Given the description of an element on the screen output the (x, y) to click on. 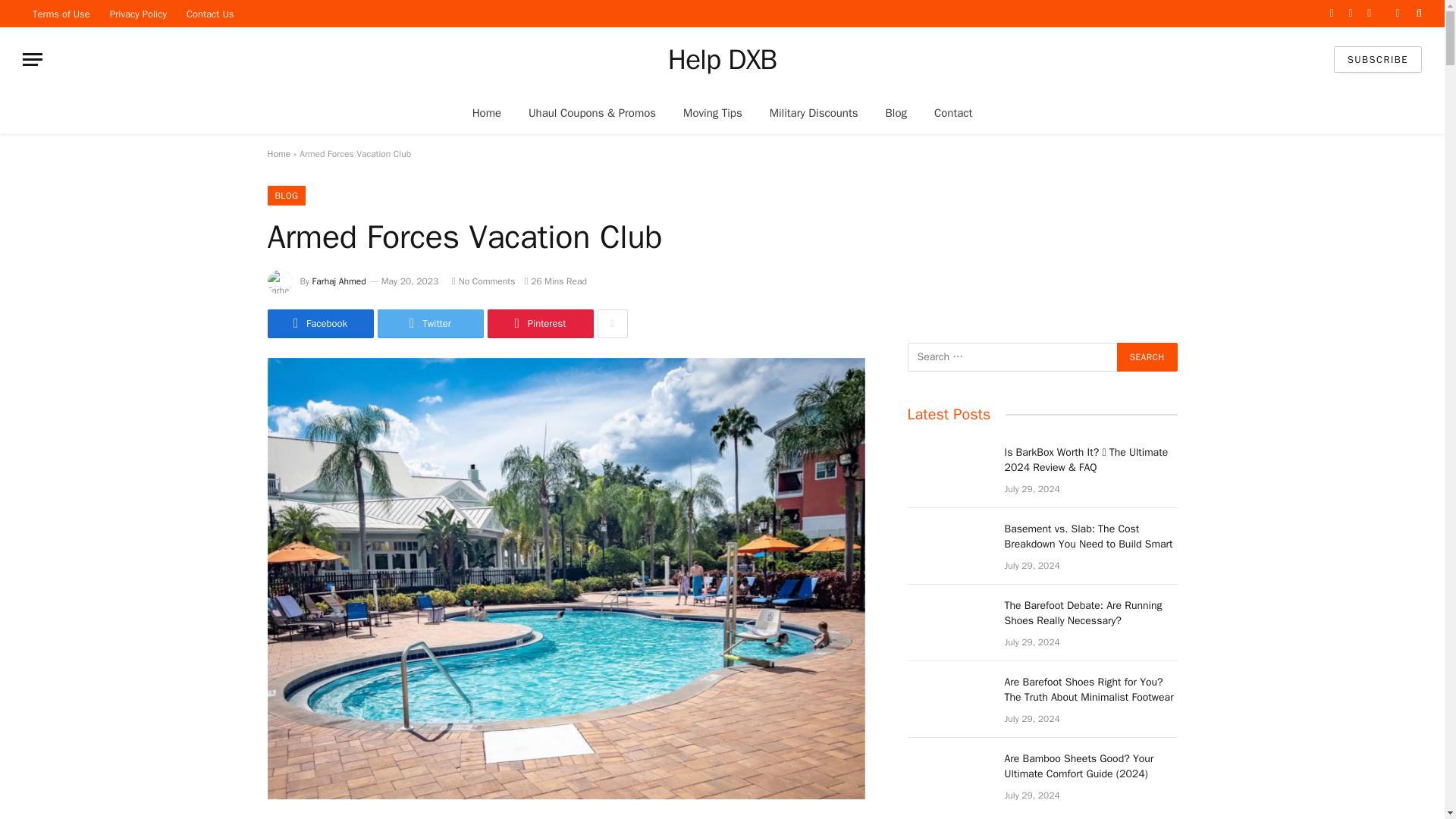
Share on Pinterest (539, 323)
Switch to Dark Design - easier on eyes. (1397, 13)
Help DXB (722, 59)
BLOG (285, 195)
Pinterest (539, 323)
Moving Tips (712, 112)
Search (1146, 357)
Home (277, 153)
Show More Social Sharing (611, 323)
Privacy Policy (138, 13)
Farhaj Ahmed (339, 281)
Posts by Farhaj Ahmed (339, 281)
Share on Facebook (319, 323)
Contact Us (210, 13)
Home (486, 112)
